Given the description of an element on the screen output the (x, y) to click on. 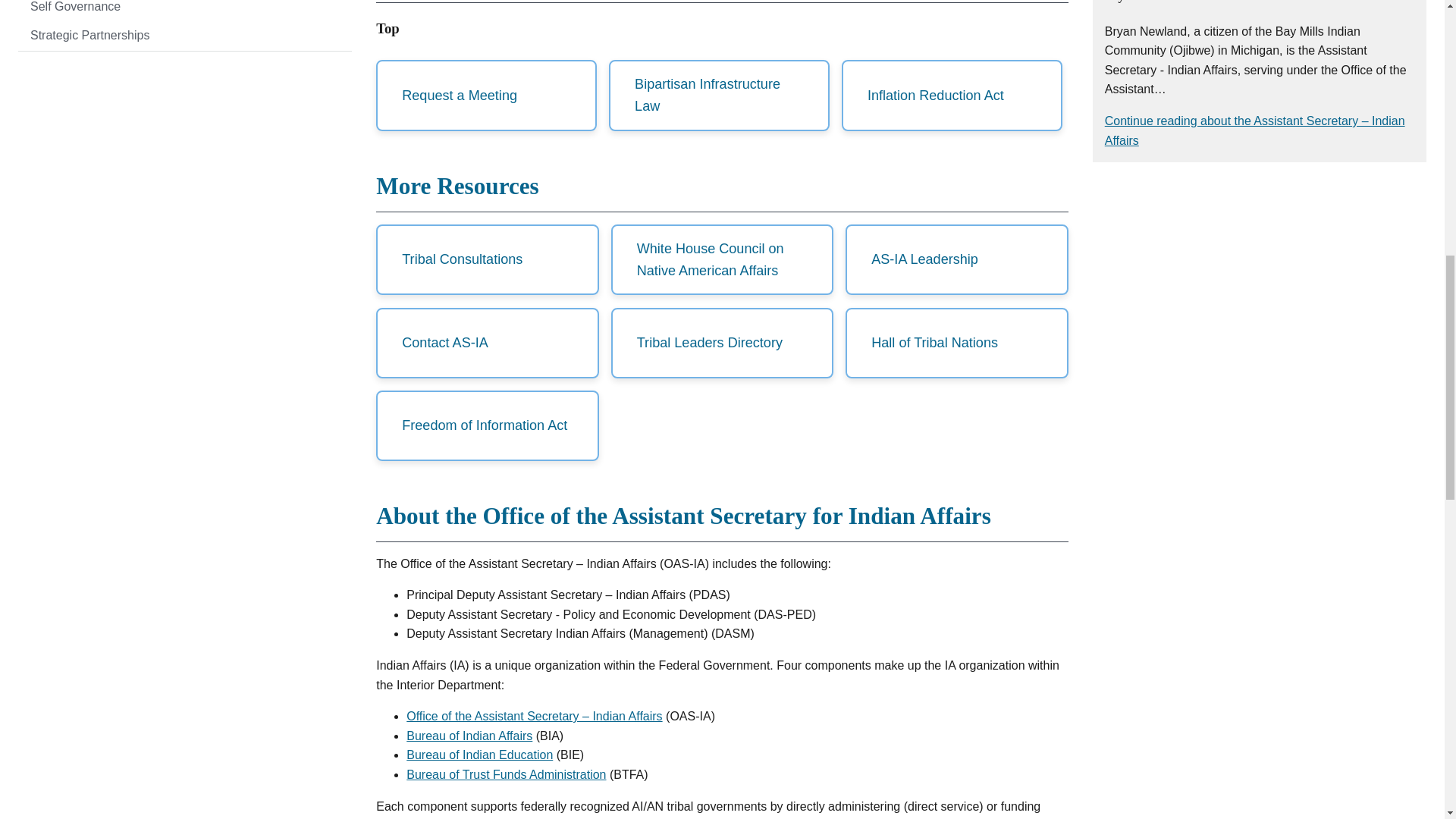
Freedom of Information Act (486, 425)
Tribal Consultations (486, 259)
Inflation Reduction Act (951, 95)
White House Council on Native American Affairs (721, 259)
Strategic Partnerships (184, 35)
Self Governance (184, 10)
Request a Meeting (485, 95)
Tribal Leaders Directory (721, 342)
Bureau of Indian Affairs (469, 735)
Bureau of Indian Education (479, 754)
Hall of Tribal Nations (956, 342)
Bipartisan Infrastructure Law (718, 95)
Contact AS-IA (486, 342)
AS-IA Leadership (956, 259)
